Given the description of an element on the screen output the (x, y) to click on. 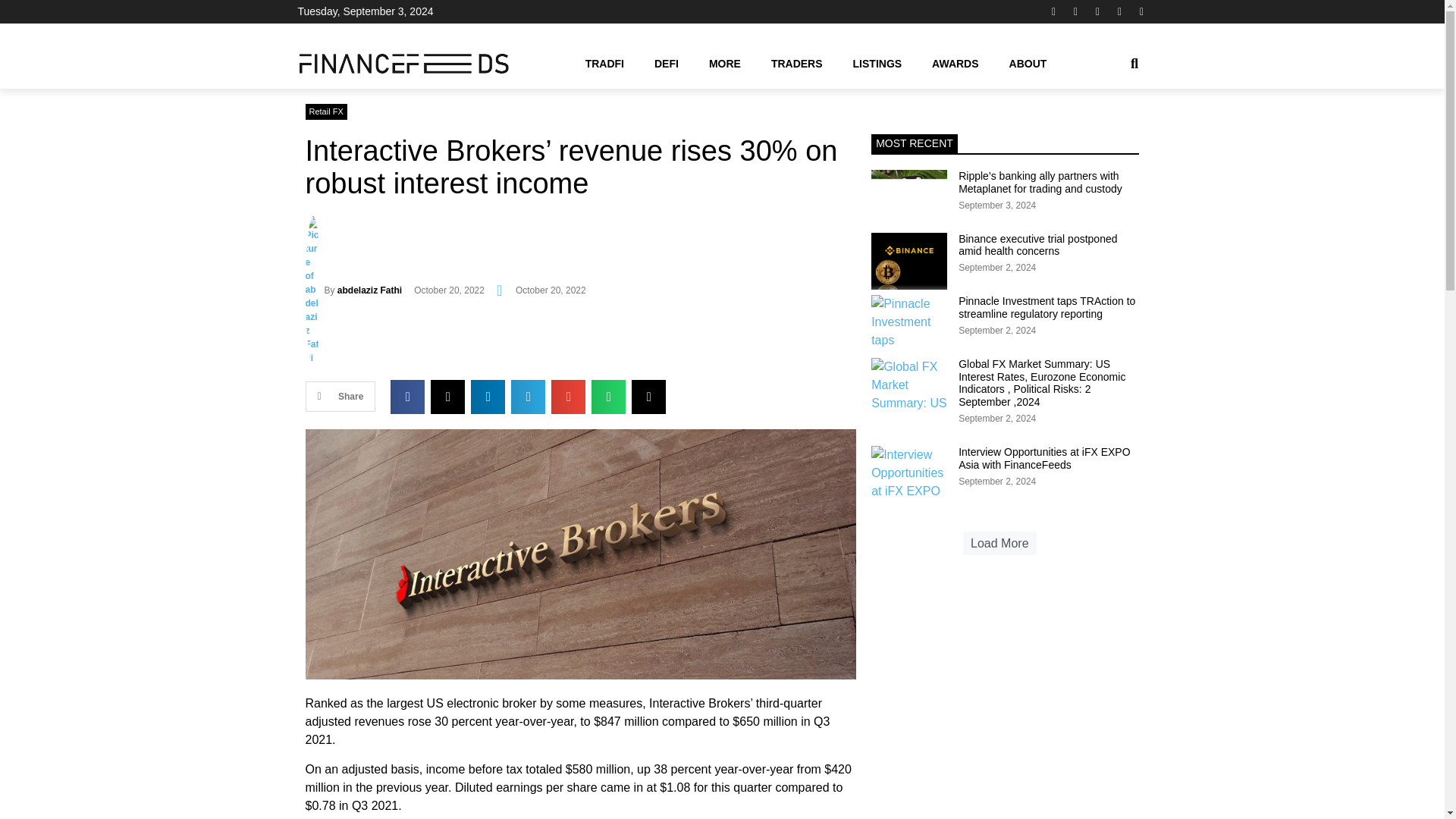
MORE (724, 63)
TRADFI (604, 63)
AWARDS (954, 63)
ABOUT (1028, 63)
DEFI (666, 63)
LISTINGS (877, 63)
TRADERS (796, 63)
